Given the description of an element on the screen output the (x, y) to click on. 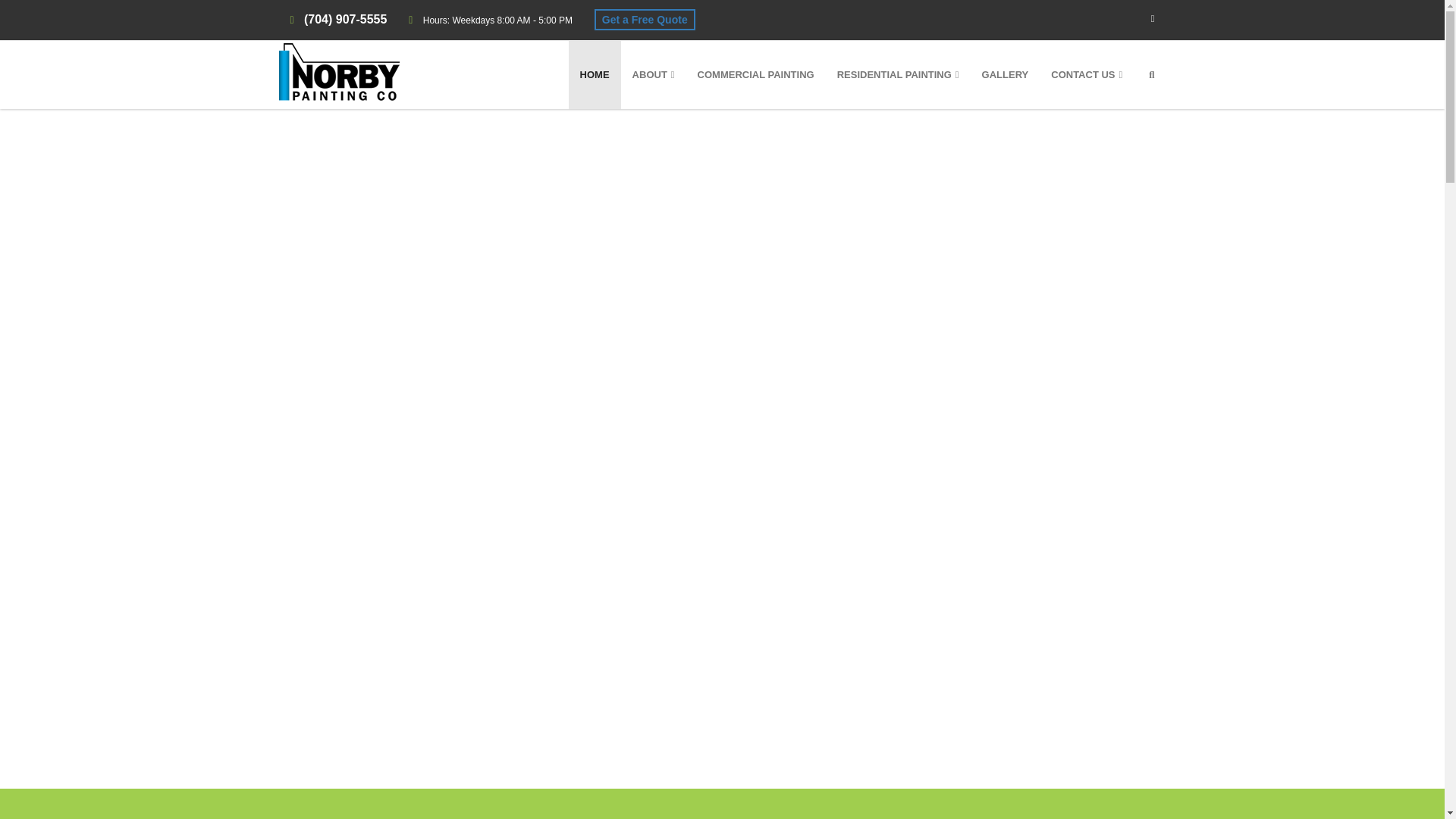
Get a Free Quote (644, 19)
About (653, 74)
RESIDENTIAL PAINTING (898, 74)
Commercial Painting (755, 74)
CONTACT US (1086, 74)
COMMERCIAL PAINTING (755, 74)
Gallery (1006, 74)
GALLERY (1006, 74)
Residential Painting (898, 74)
ABOUT (653, 74)
